Given the description of an element on the screen output the (x, y) to click on. 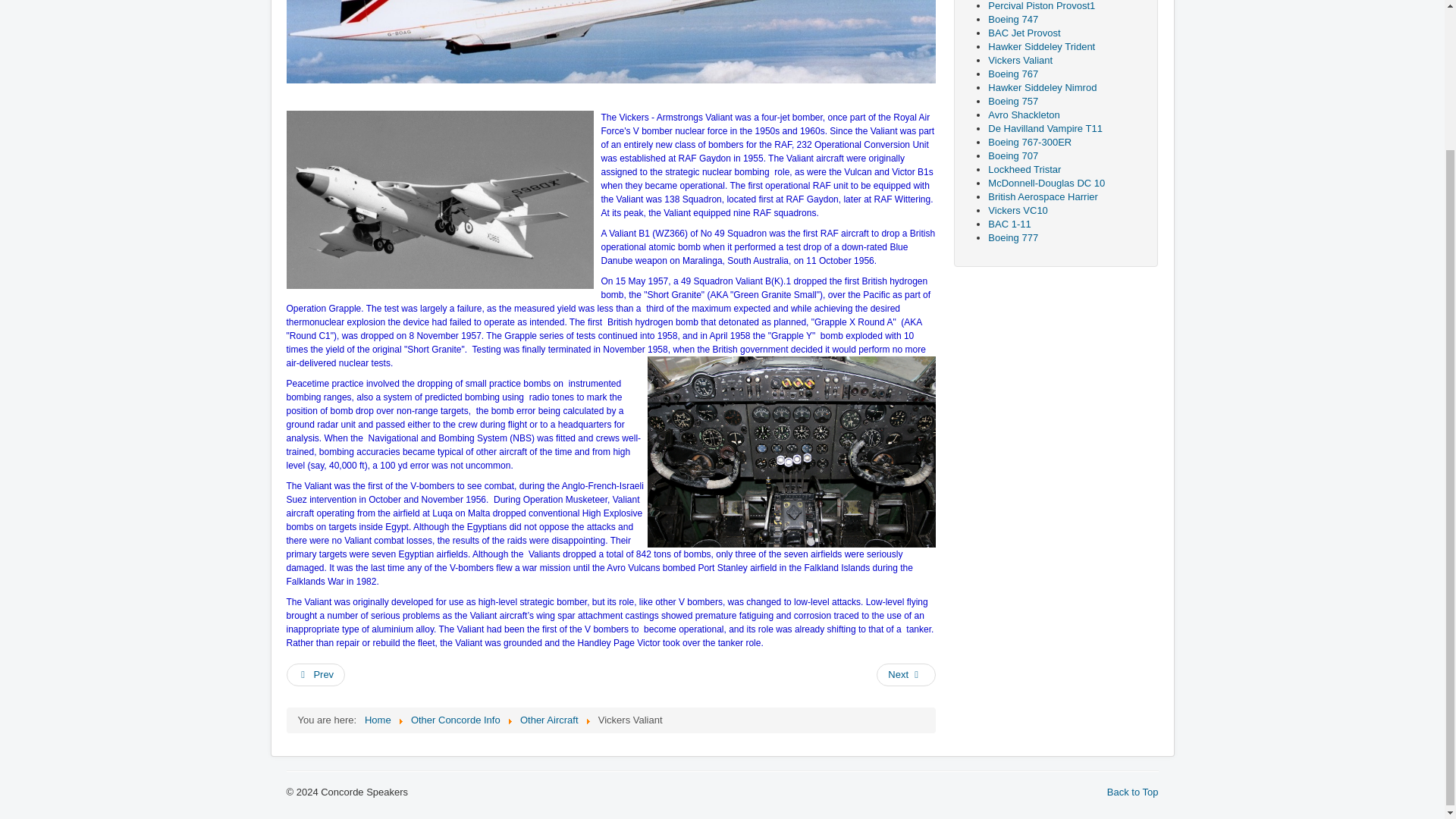
Boeing 767-300ER (1029, 142)
Hawker Siddeley Nimrod (1042, 87)
British Aerospace Harrier (1042, 196)
BAC Jet Provost (1023, 32)
Vickers Valiant (1020, 60)
Prev (316, 674)
Other Concorde Info (455, 719)
Percival Piston Provost1 (1041, 5)
Lockheed Tristar (1024, 169)
Other Aircraft (548, 719)
